Given the description of an element on the screen output the (x, y) to click on. 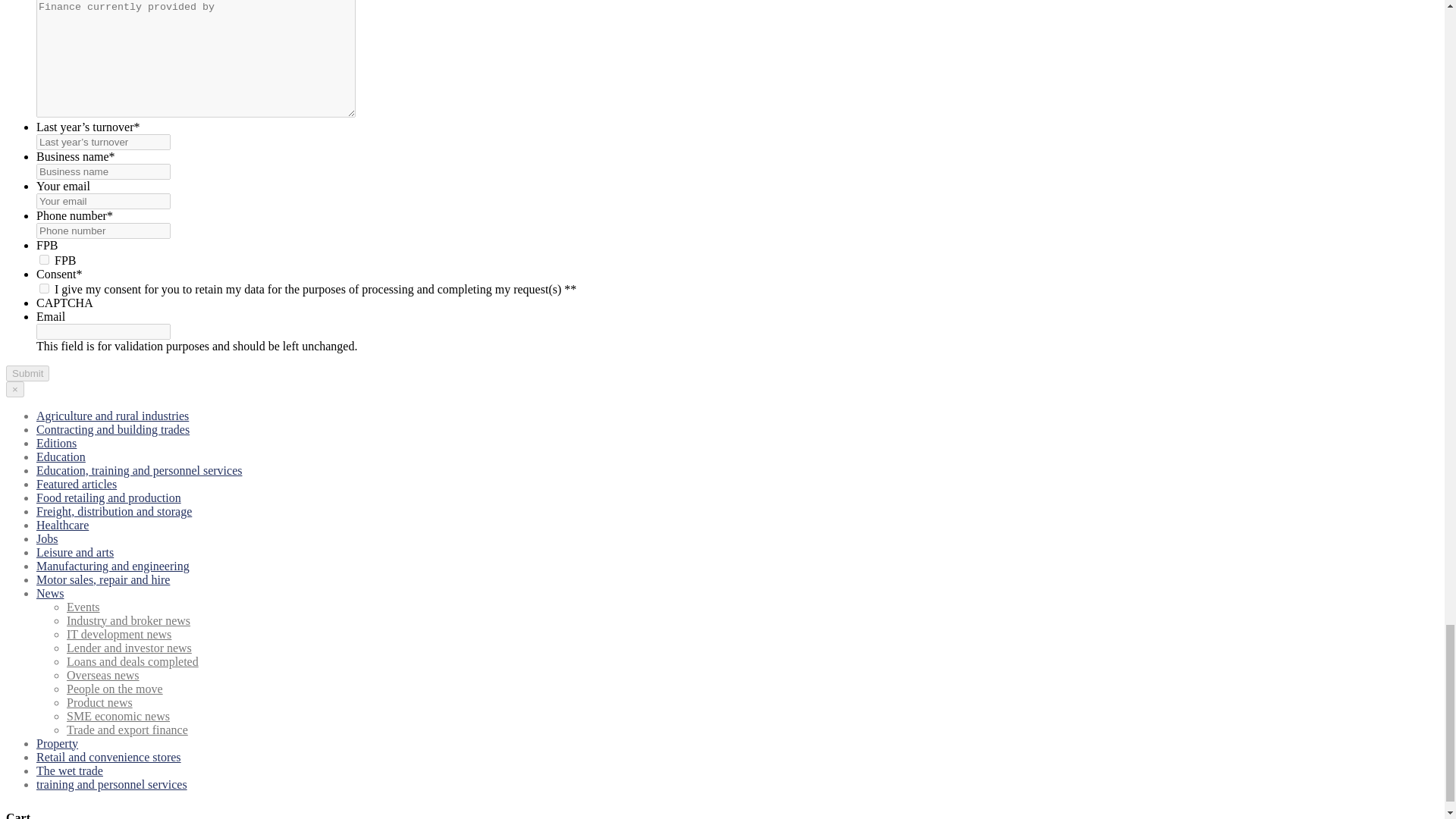
1 (44, 288)
Submit (27, 373)
1 (44, 259)
